Given the description of an element on the screen output the (x, y) to click on. 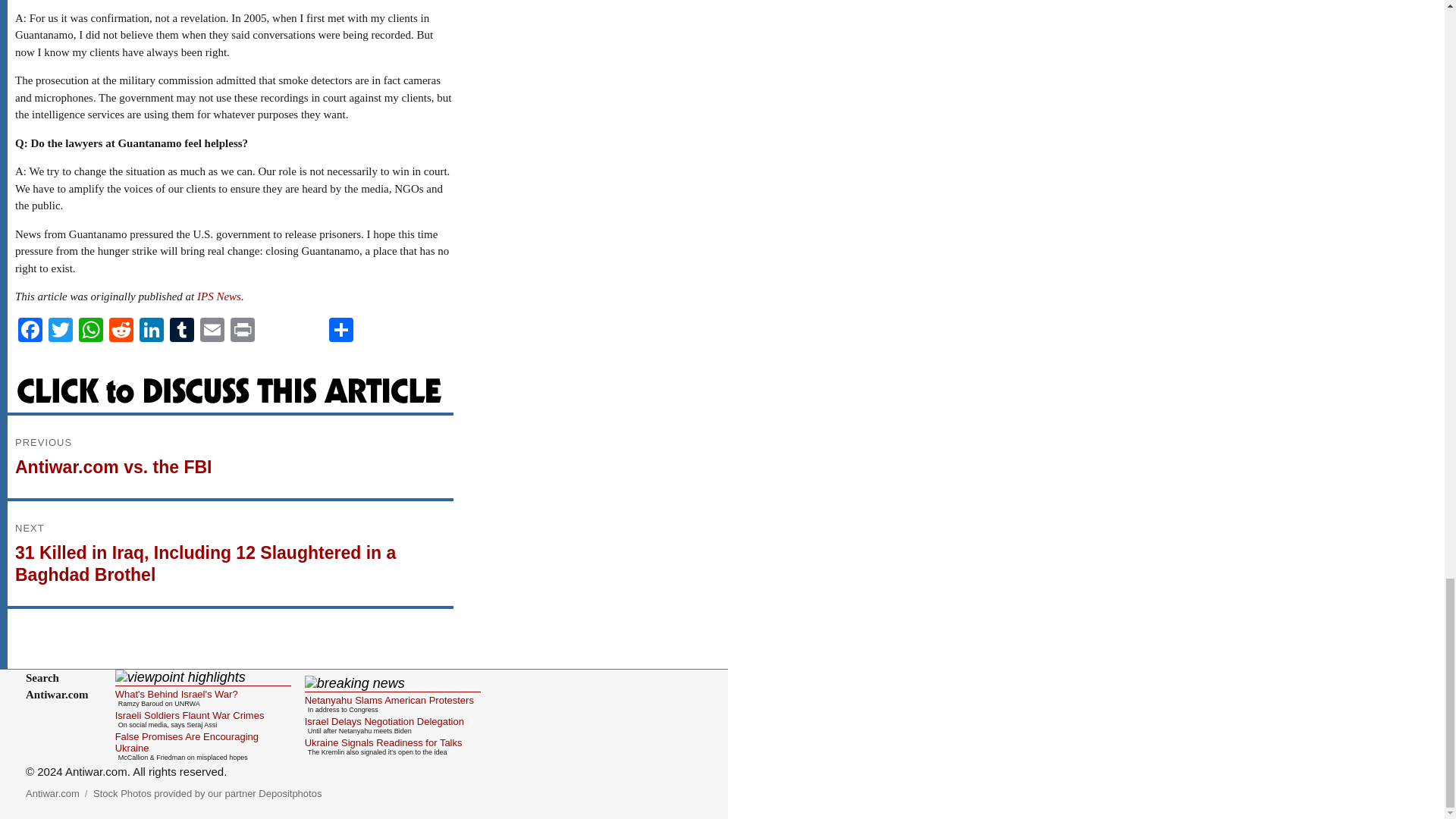
Print (242, 331)
Email (211, 331)
Print (242, 331)
Tumblr (181, 331)
IPS News (218, 296)
Tumblr (181, 331)
Facebook (29, 331)
Email (211, 331)
Reddit (121, 331)
Reddit (121, 331)
WhatsApp (90, 331)
Share (229, 456)
Facebook (341, 331)
